Given the description of an element on the screen output the (x, y) to click on. 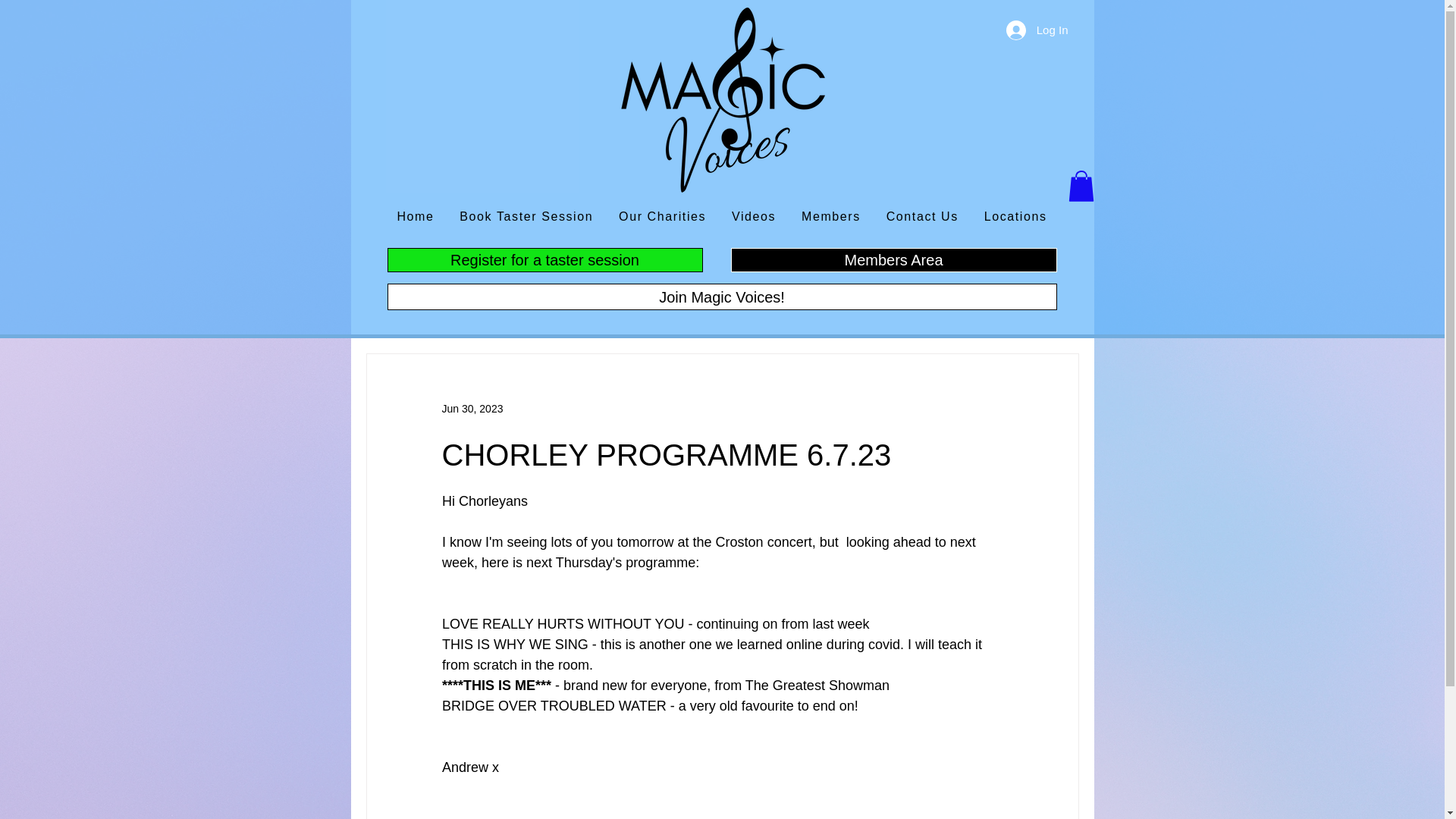
Book Taster Session (525, 217)
Our Charities (662, 217)
Register for a taster session (544, 259)
Locations (1015, 217)
Log In (1036, 29)
Jun 30, 2023 (471, 408)
Join Magic Voices! (722, 296)
Members Area (893, 259)
Home (415, 217)
Contact Us (922, 217)
Videos (754, 217)
Members (831, 217)
